Given the description of an element on the screen output the (x, y) to click on. 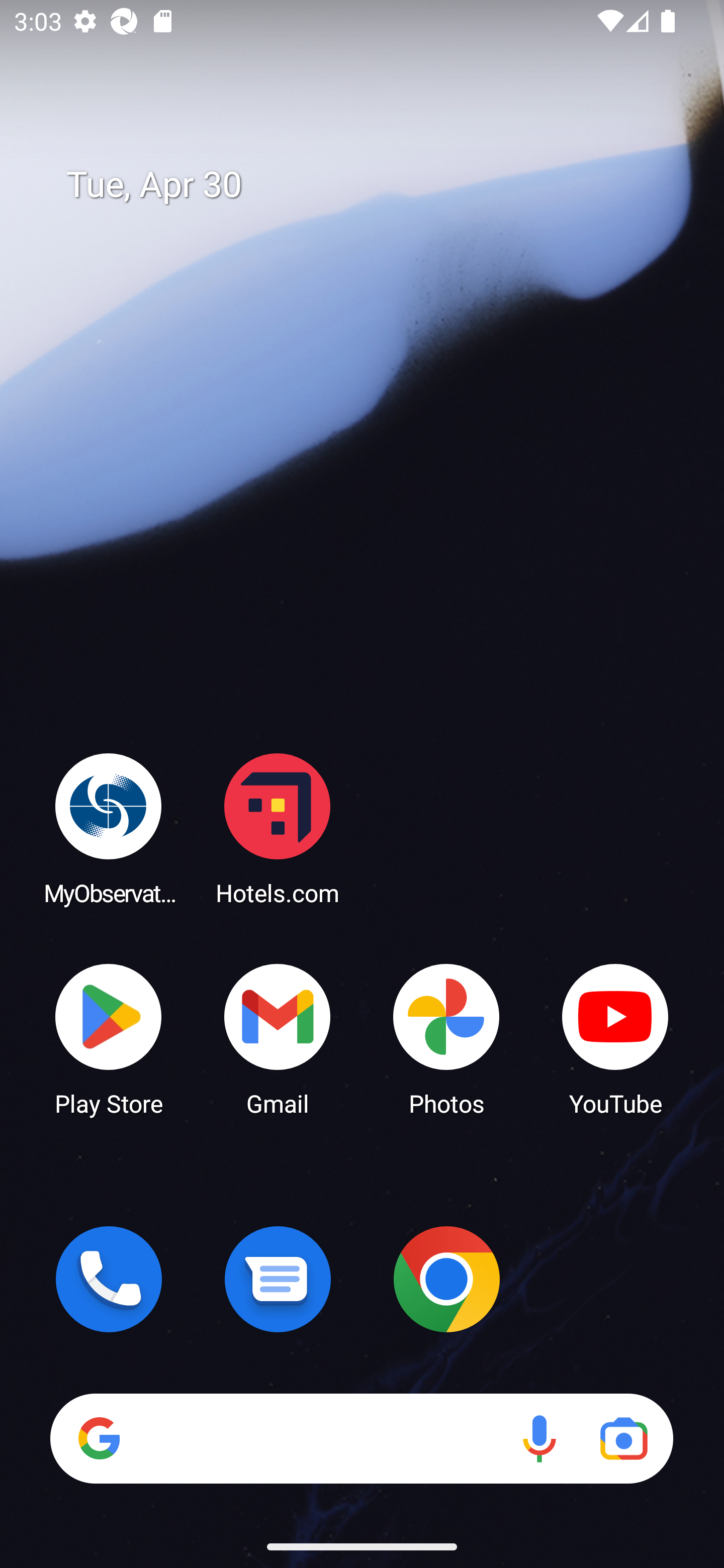
Tue, Apr 30 (375, 184)
MyObservatory (108, 828)
Hotels.com (277, 828)
Play Store (108, 1038)
Gmail (277, 1038)
Photos (445, 1038)
YouTube (615, 1038)
Phone (108, 1279)
Messages (277, 1279)
Chrome (446, 1279)
Voice search (539, 1438)
Google Lens (623, 1438)
